Given the description of an element on the screen output the (x, y) to click on. 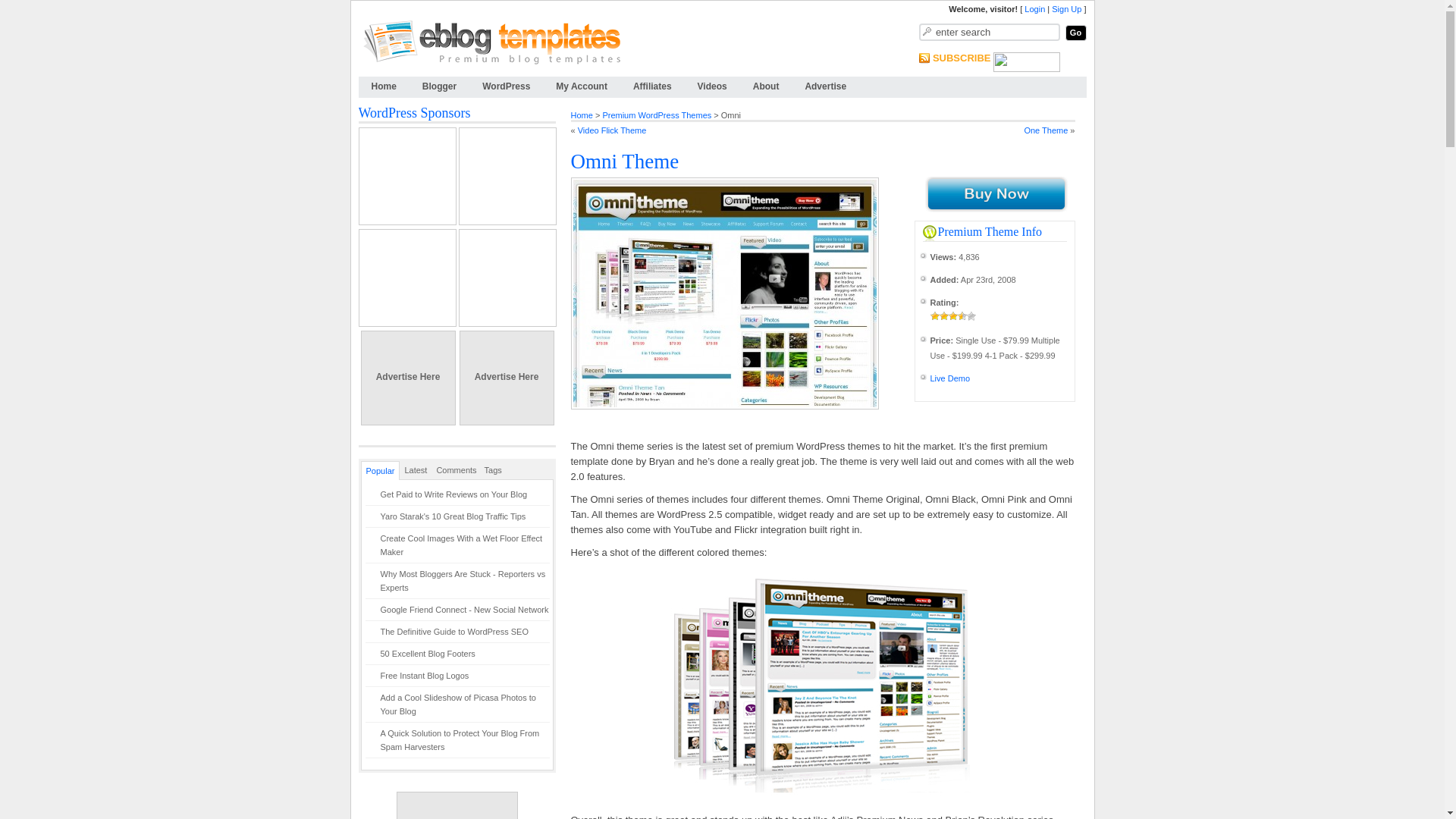
Go (1075, 32)
enter search (988, 31)
My Account (581, 86)
Free WordPress Templates (505, 86)
Go (1075, 32)
My Account (581, 86)
Blogger (438, 86)
SUBSCRIBE (962, 57)
Free Blogger Templates (438, 86)
Home (581, 114)
Affiliates (652, 86)
Login (1035, 8)
One Theme (1045, 130)
Live Demo (949, 378)
